Given the description of an element on the screen output the (x, y) to click on. 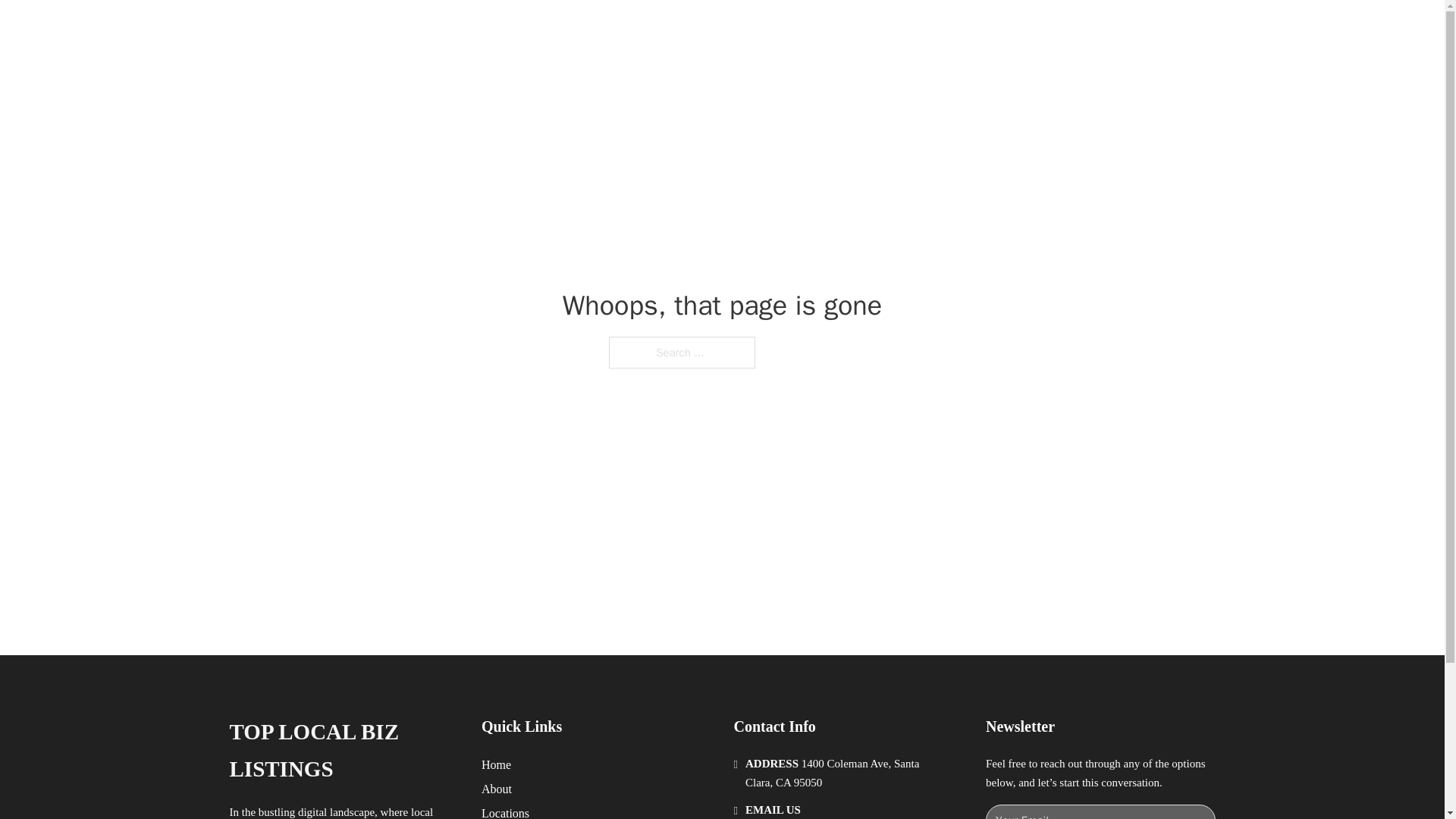
TOP LOCAL BIZ LISTINGS (432, 28)
About (496, 788)
LOCATIONS (990, 29)
HOME (919, 29)
TOP LOCAL BIZ LISTINGS (343, 750)
Locations (505, 811)
Home (496, 764)
